Given the description of an element on the screen output the (x, y) to click on. 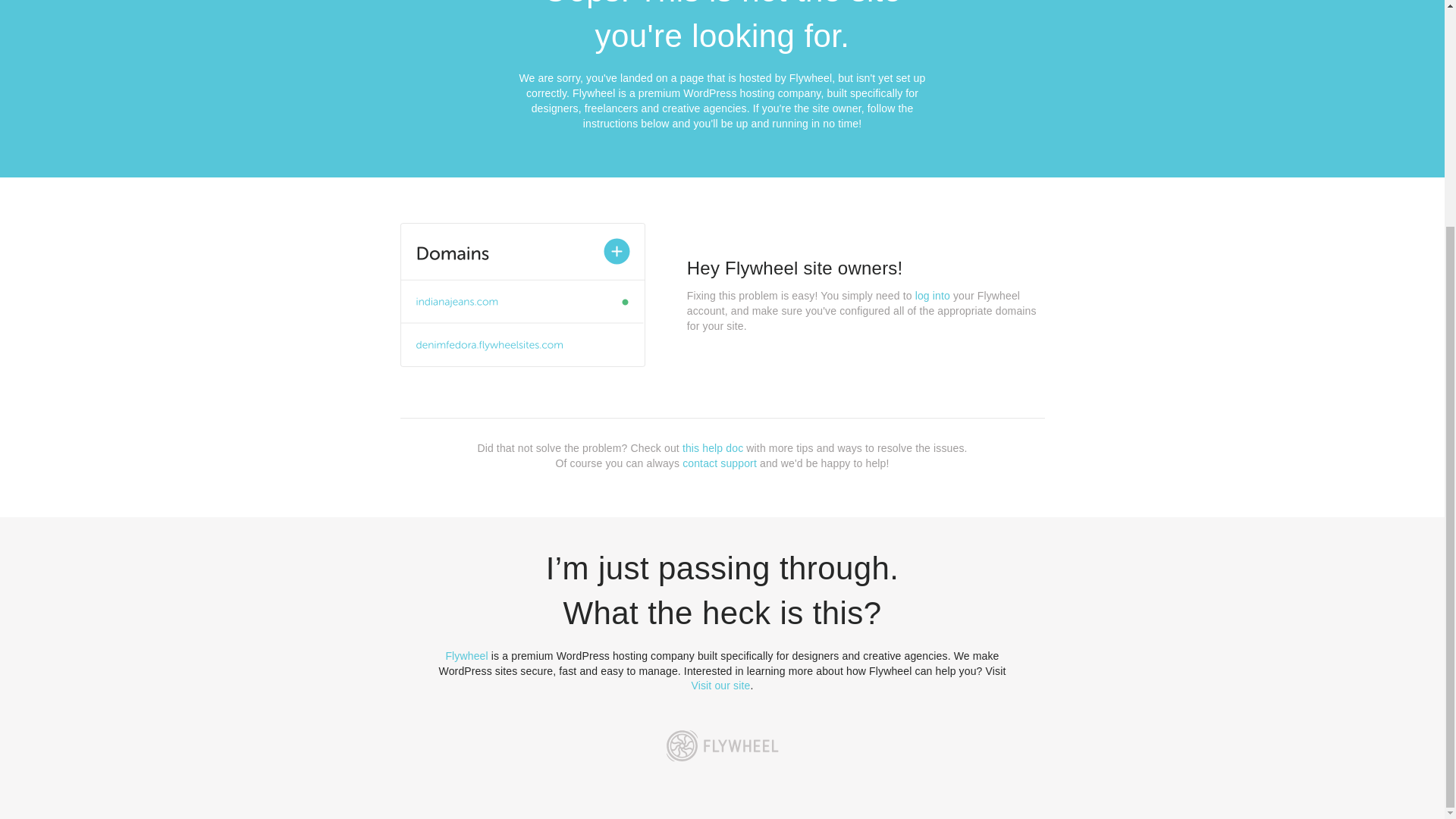
Visit our site (721, 685)
this help doc (712, 448)
Flywheel (466, 655)
contact support (719, 463)
log into (932, 295)
